Given the description of an element on the screen output the (x, y) to click on. 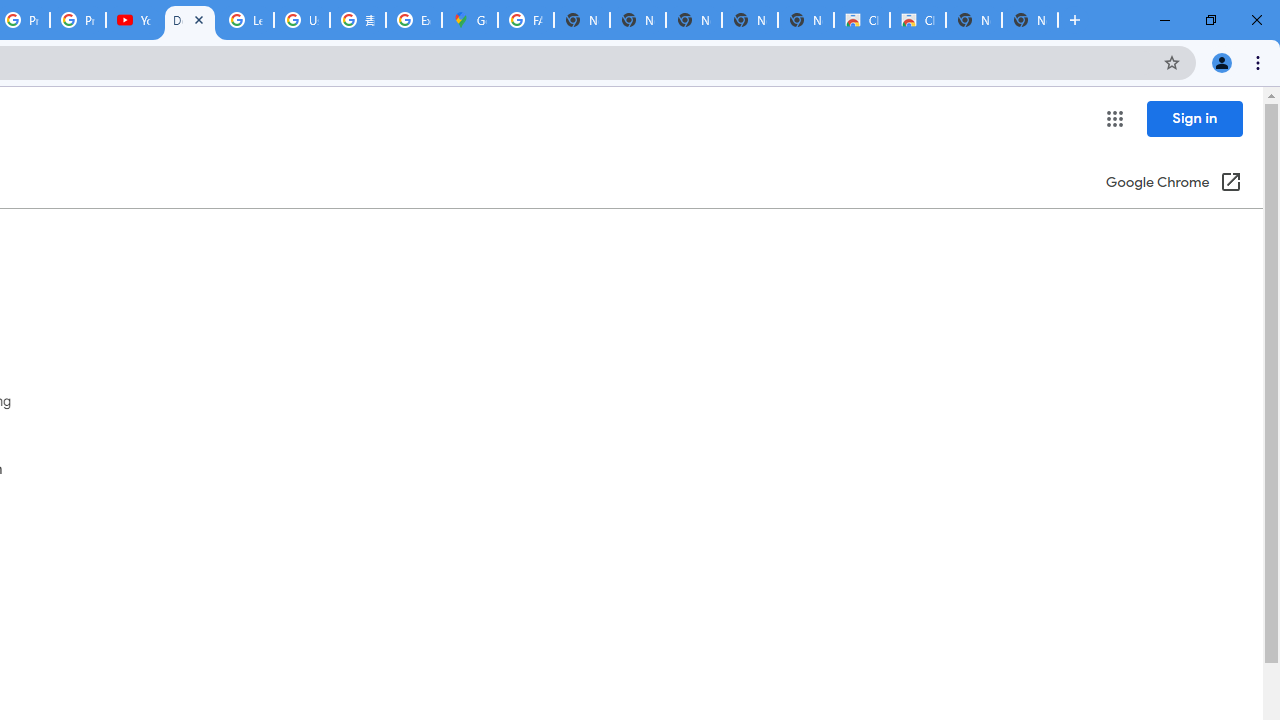
New Tab (1030, 20)
Explore new street-level details - Google Maps Help (413, 20)
Privacy Checkup (77, 20)
Google Chrome (Open in a new window) (1173, 183)
Google Maps (469, 20)
Classic Blue - Chrome Web Store (861, 20)
